Given the description of an element on the screen output the (x, y) to click on. 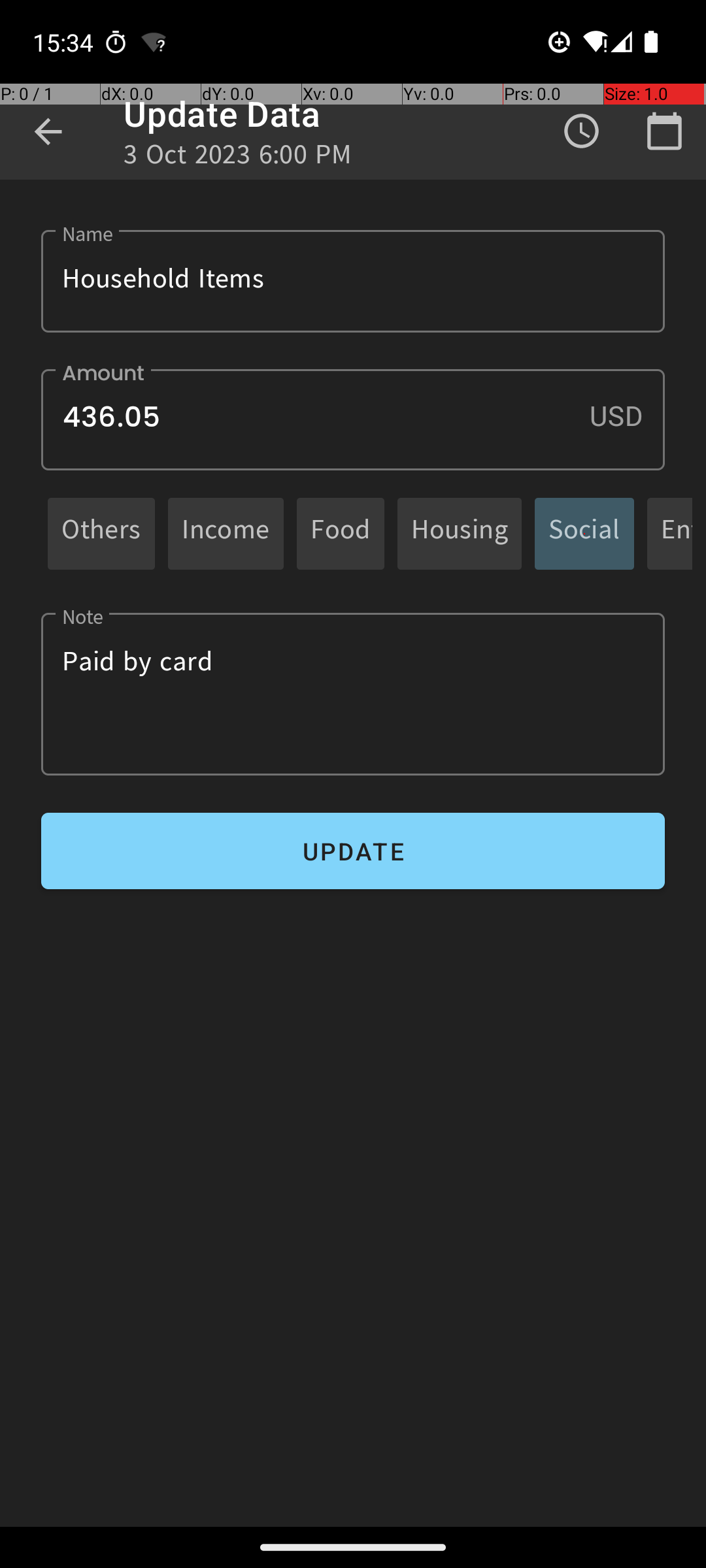
3 Oct 2023 6:00 PM Element type: android.widget.TextView (237, 157)
Household Items Element type: android.widget.EditText (352, 280)
436.05 Element type: android.widget.EditText (352, 419)
Others Element type: android.widget.TextView (101, 533)
